Given the description of an element on the screen output the (x, y) to click on. 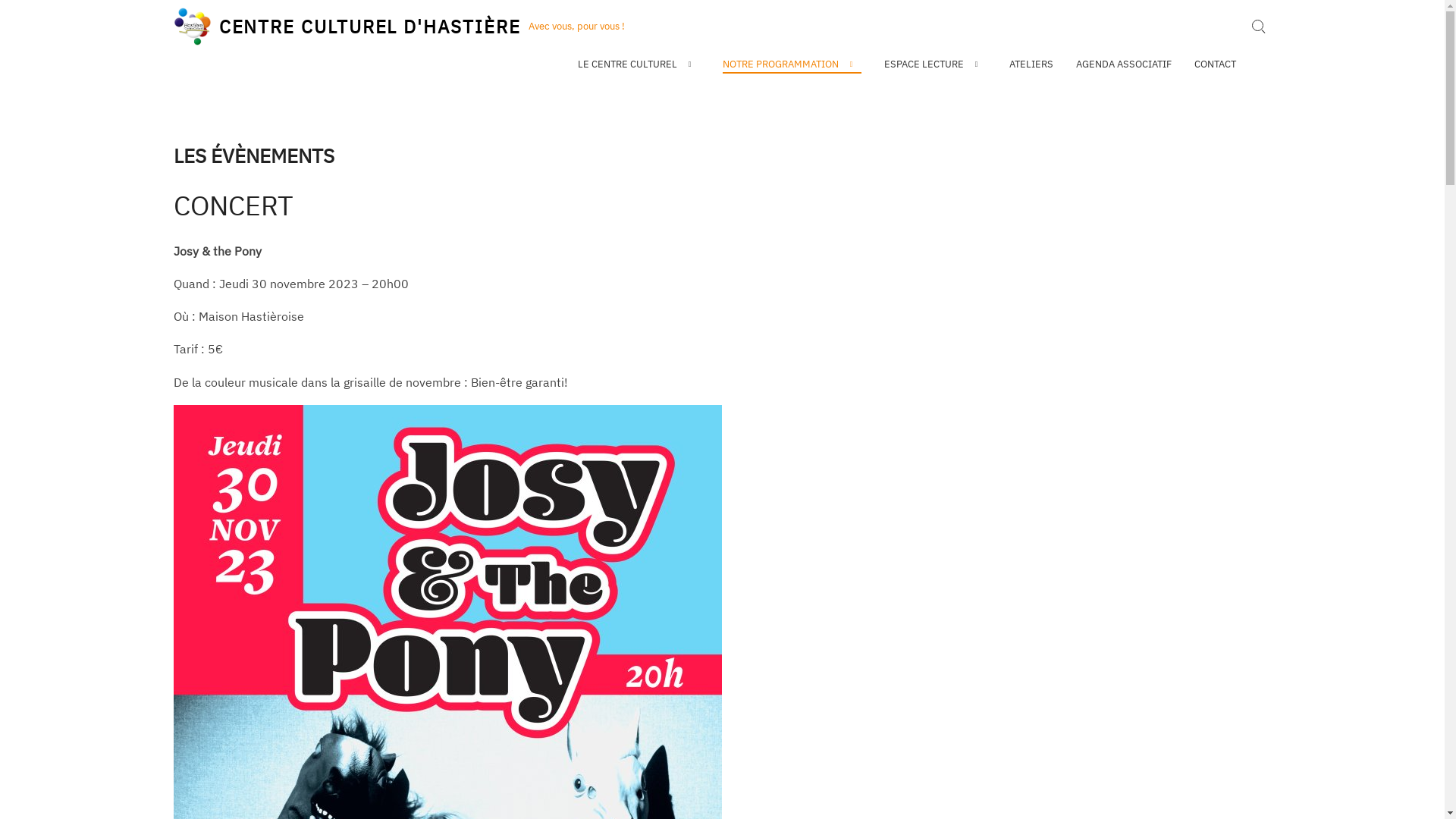
Search Element type: text (1045, 409)
AGENDA ASSOCIATIF Element type: text (1123, 64)
LE CENTRE CULTUREL Element type: text (638, 64)
CONTACT Element type: text (1215, 64)
Search for: Element type: text (1257, 26)
ESPACE LECTURE Element type: text (935, 64)
NOTRE PROGRAMMATION Element type: text (791, 64)
ATELIERS Element type: text (1031, 64)
